Given the description of an element on the screen output the (x, y) to click on. 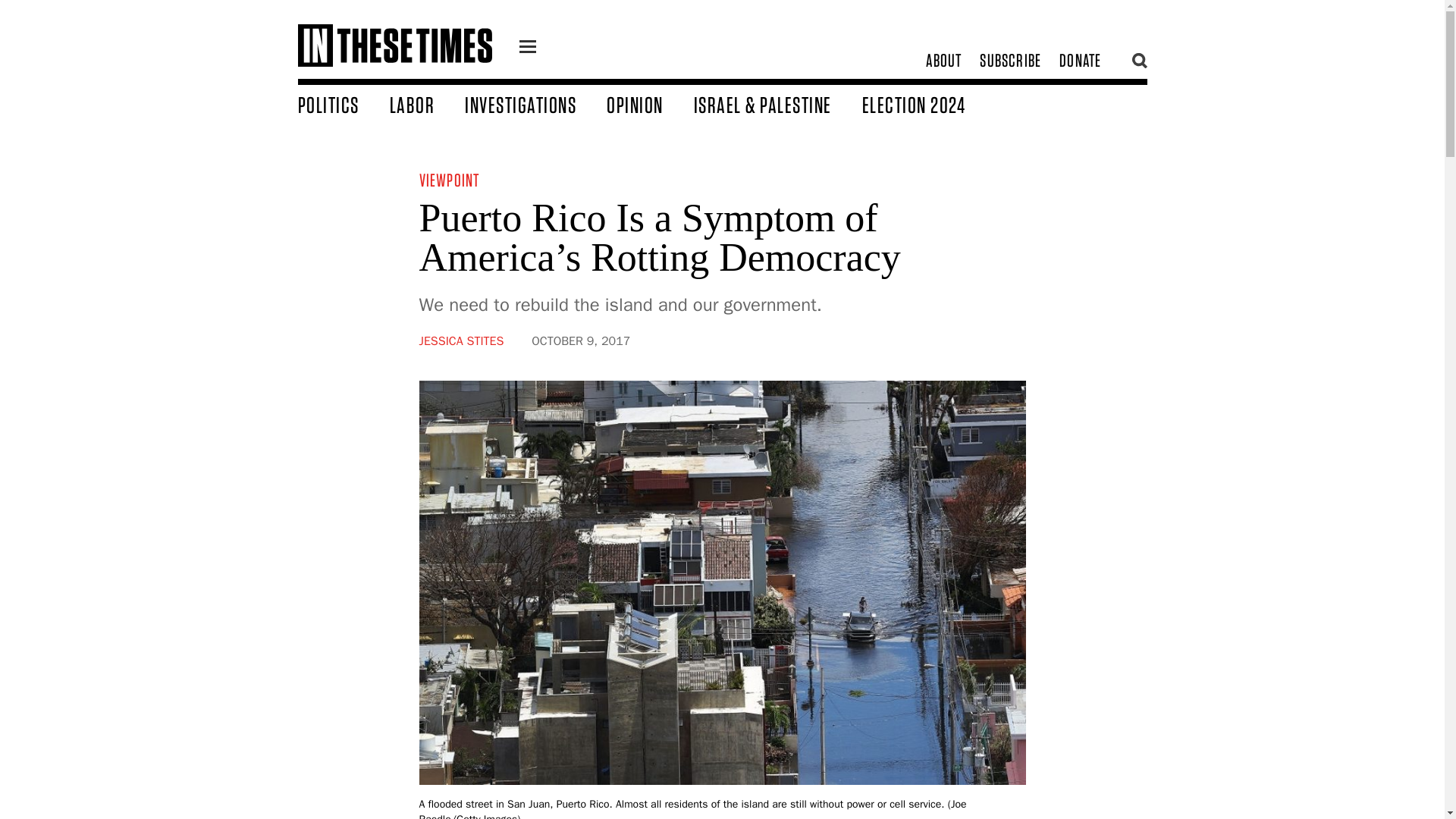
VIEWPOINT (449, 179)
SUBSCRIBE (1010, 60)
INVESTIGATIONS (535, 103)
OPINION (650, 103)
JESSICA STITES (461, 340)
ABOUT (944, 60)
POLITICS (342, 103)
ELECTION 2024 (928, 103)
LABOR (427, 103)
